Given the description of an element on the screen output the (x, y) to click on. 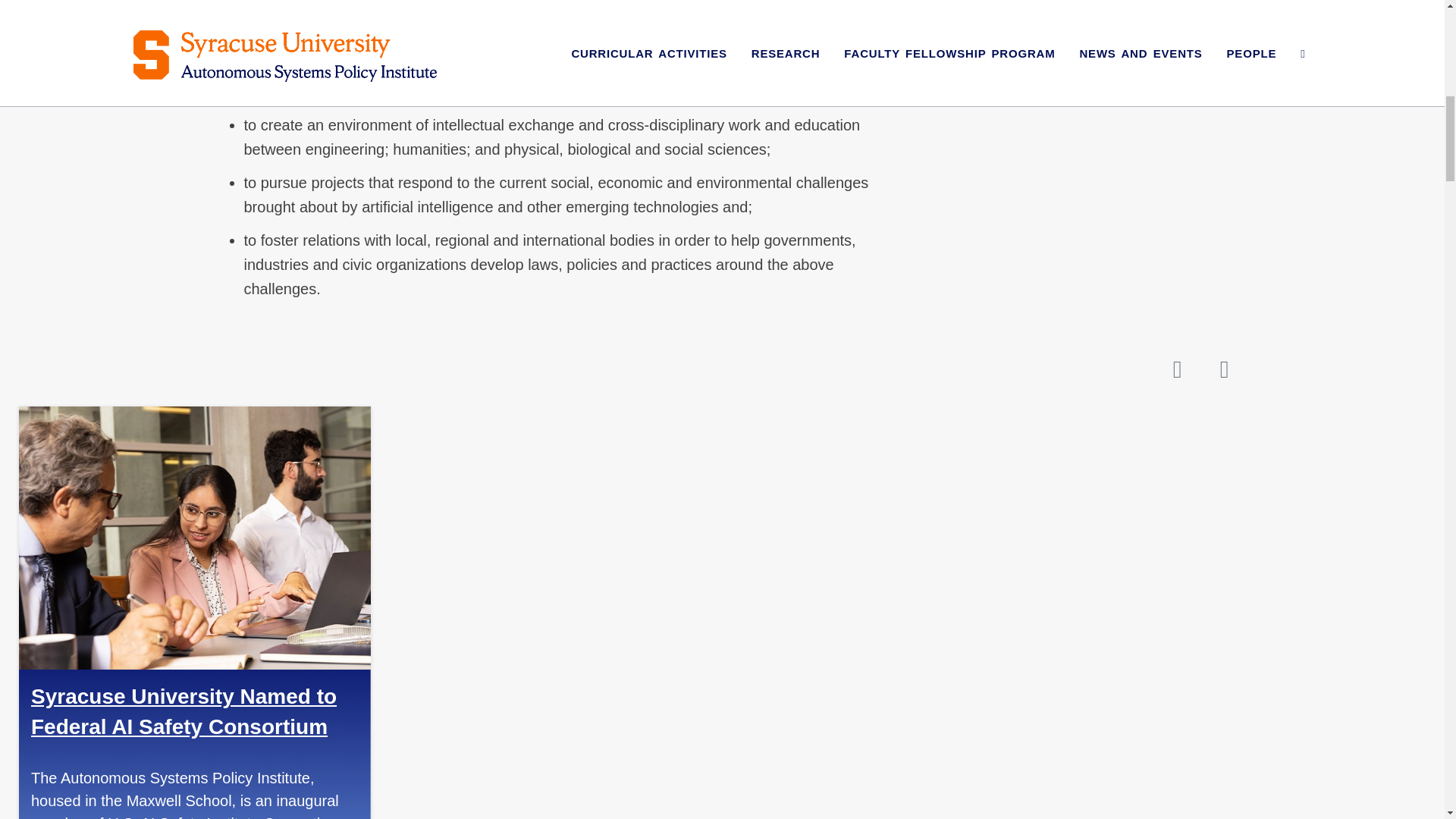
Syracuse University Named to Federal AI Safety Consortium (183, 711)
